Given the description of an element on the screen output the (x, y) to click on. 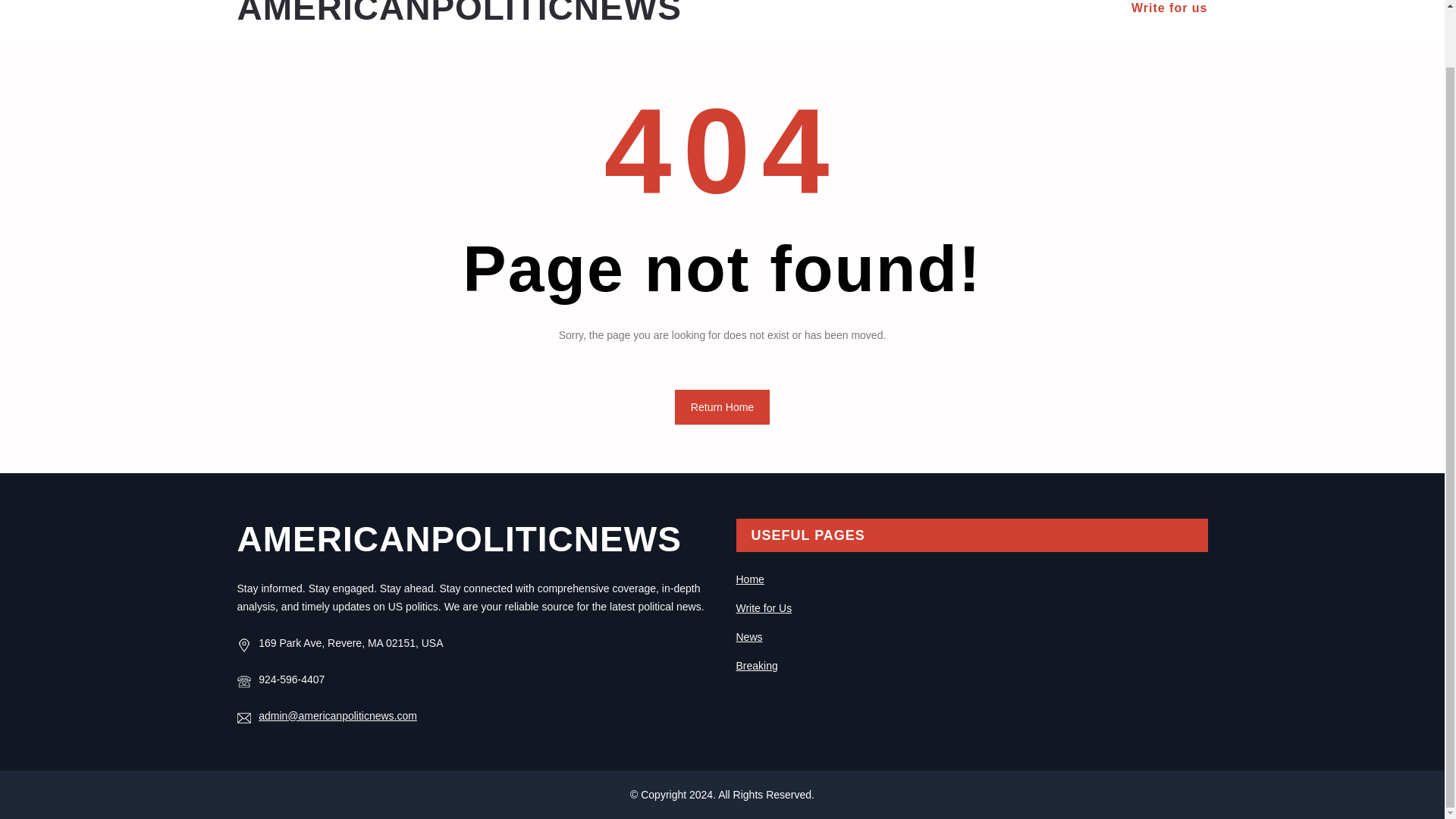
AMERICANPOLITICNEWS (458, 538)
AMERICANPOLITICNEWS (458, 13)
Return Home (722, 407)
News (748, 636)
Breaking (756, 665)
Write for Us (763, 607)
Home (748, 579)
Write for us (1169, 8)
